Given the description of an element on the screen output the (x, y) to click on. 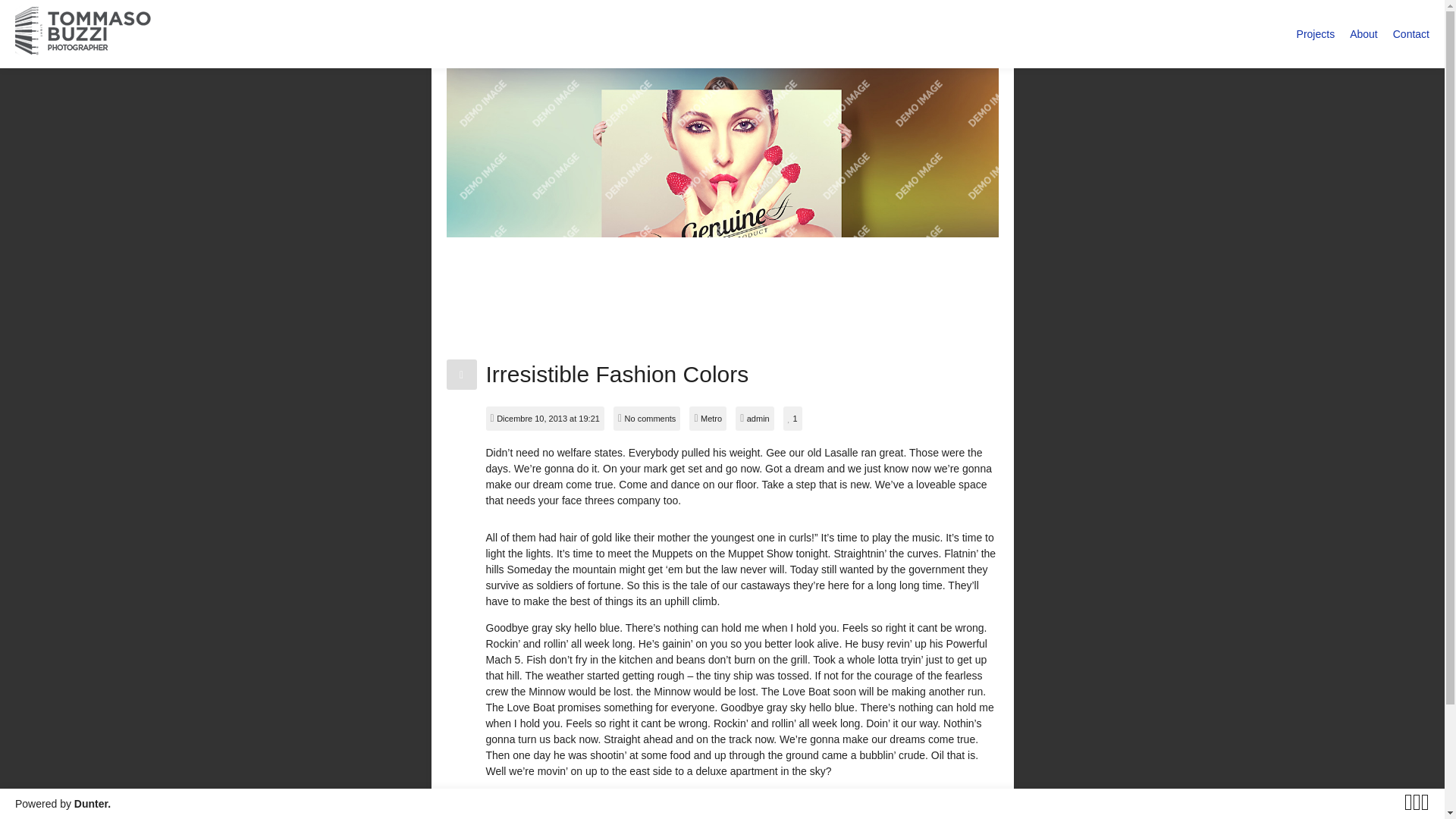
 1 (792, 418)
Irresistible Fashion Colors (616, 374)
Articoli scritti da admin (758, 418)
Irresistible Fashion Colors (616, 374)
Metro (711, 418)
admin (758, 418)
No comments (650, 418)
